Given the description of an element on the screen output the (x, y) to click on. 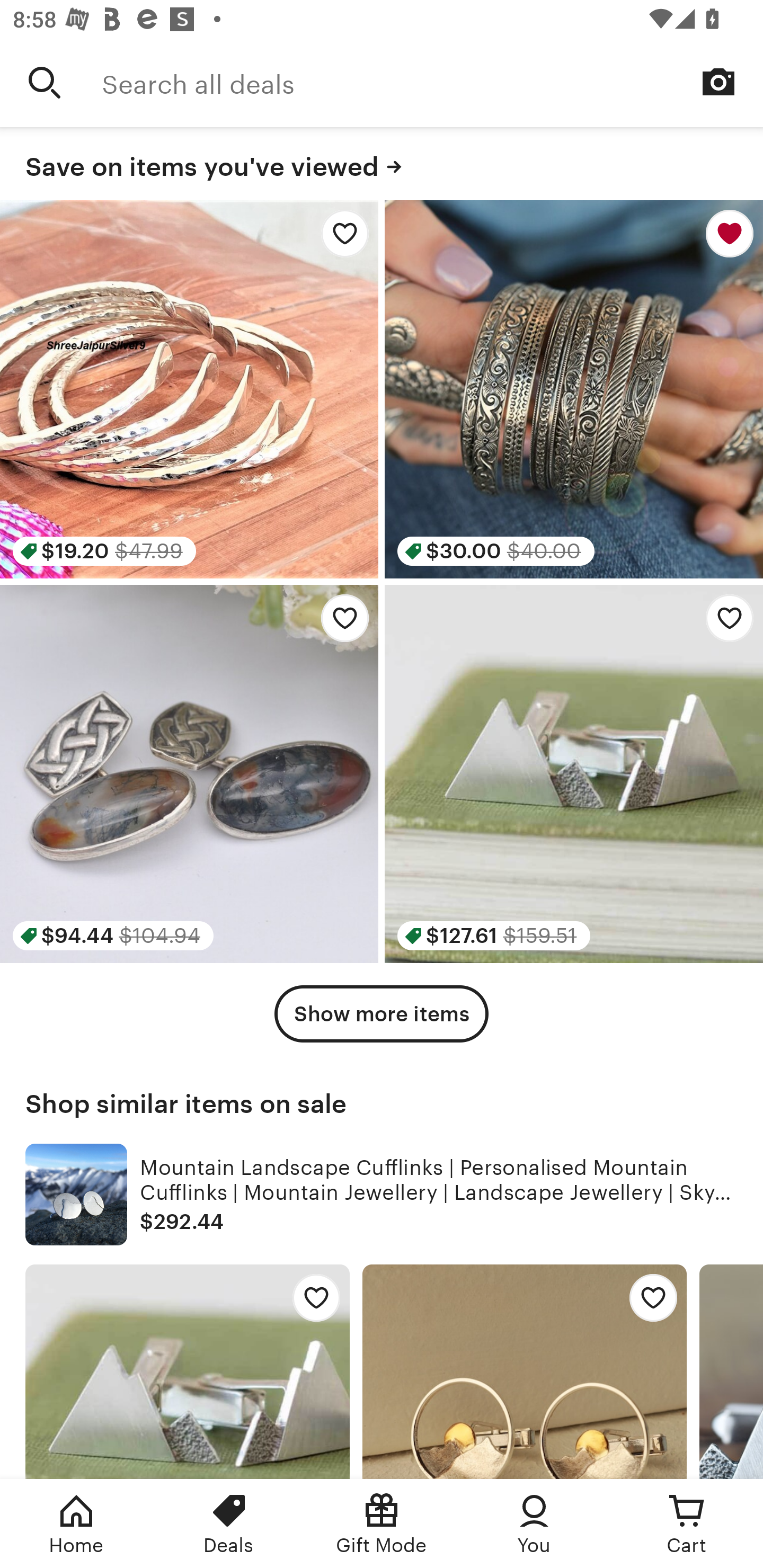
Search for anything on Etsy (44, 82)
Search by image (718, 81)
Search all deals (432, 82)
Save on items you've viewed (381, 164)
Show more items (381, 1013)
Home (76, 1523)
Gift Mode (381, 1523)
You (533, 1523)
Cart (686, 1523)
